Given the description of an element on the screen output the (x, y) to click on. 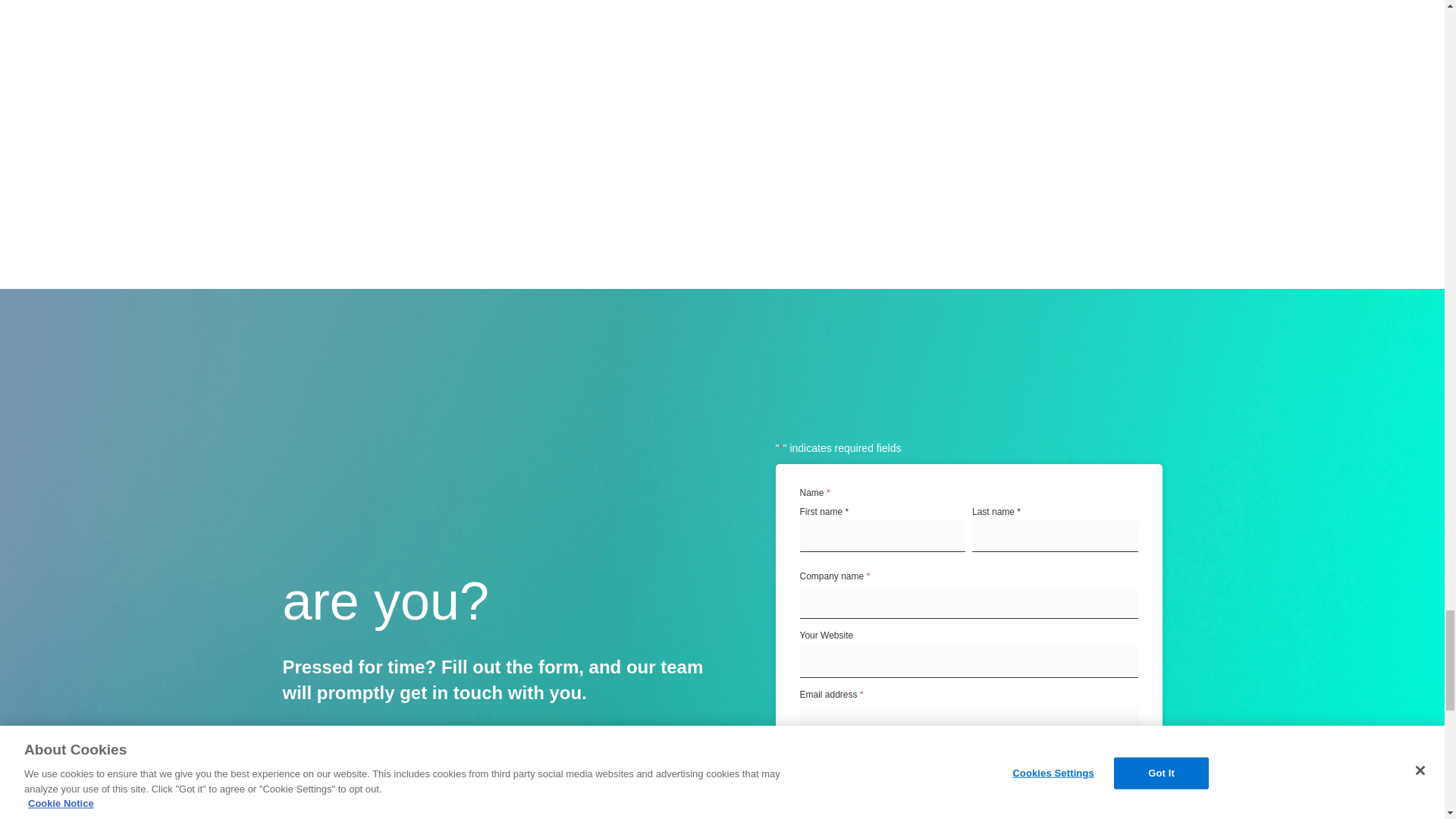
0800 170 1788 (432, 792)
